Given the description of an element on the screen output the (x, y) to click on. 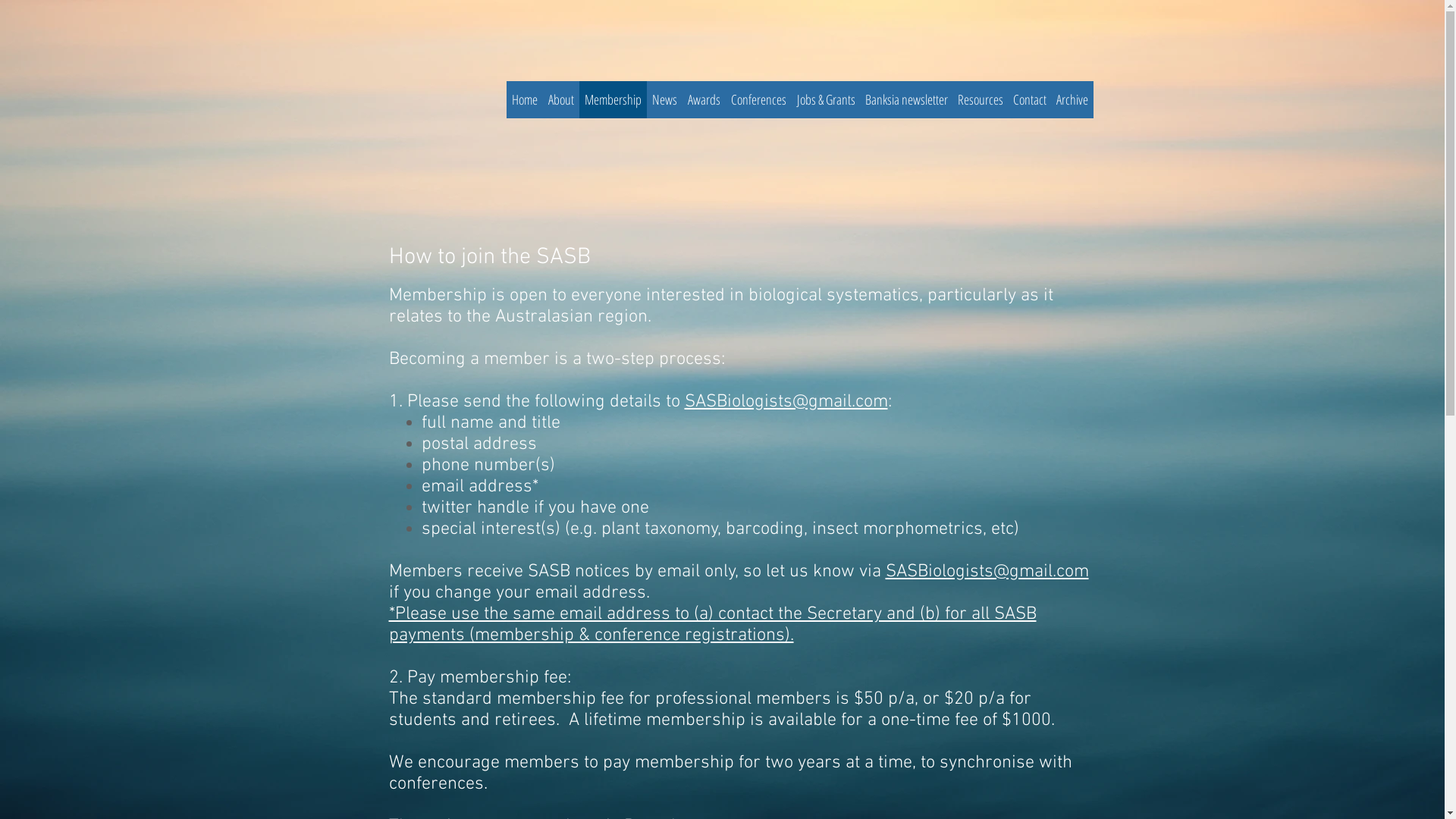
Resources Element type: text (979, 99)
SASBiologists@gmail.com Element type: text (785, 401)
Contact Element type: text (1029, 99)
Jobs & Grants Element type: text (825, 99)
Home Element type: text (524, 99)
Conferences Element type: text (757, 99)
Banksia newsletter Element type: text (905, 99)
Membership Element type: text (612, 99)
News Element type: text (663, 99)
Archive Element type: text (1071, 99)
Awards Element type: text (703, 99)
About Element type: text (560, 99)
SASBiologists@gmail.com Element type: text (986, 571)
